Given the description of an element on the screen output the (x, y) to click on. 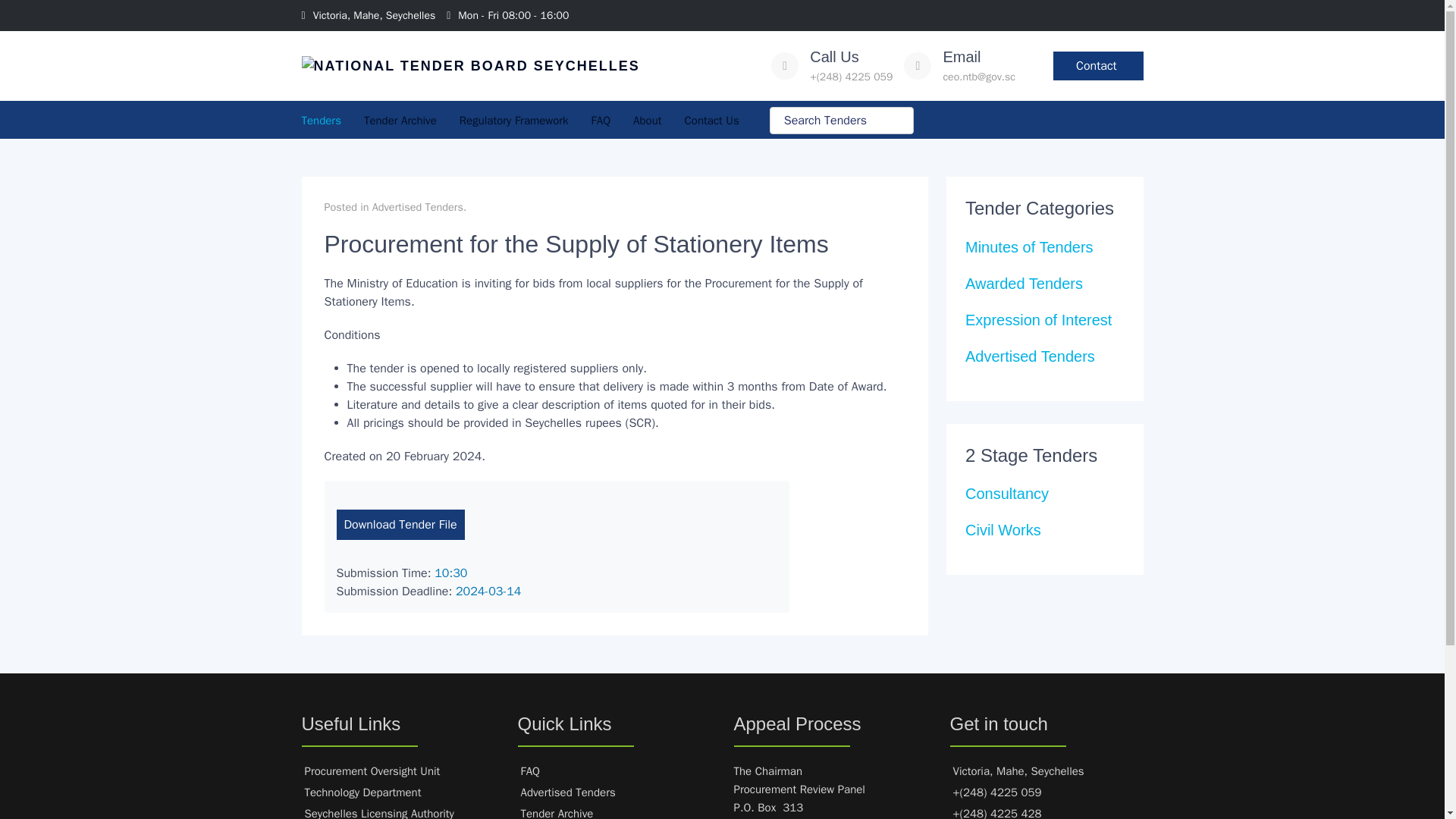
Seychelles Licensing Authority (379, 812)
Click to download (400, 524)
Download Tender File (400, 524)
Tender Archive (400, 120)
Expression of Interest (1038, 320)
About (646, 120)
Advertised Tenders (1029, 356)
Advertised Tenders (417, 206)
Consultancy (1006, 493)
Search Tenders (842, 120)
